Given the description of an element on the screen output the (x, y) to click on. 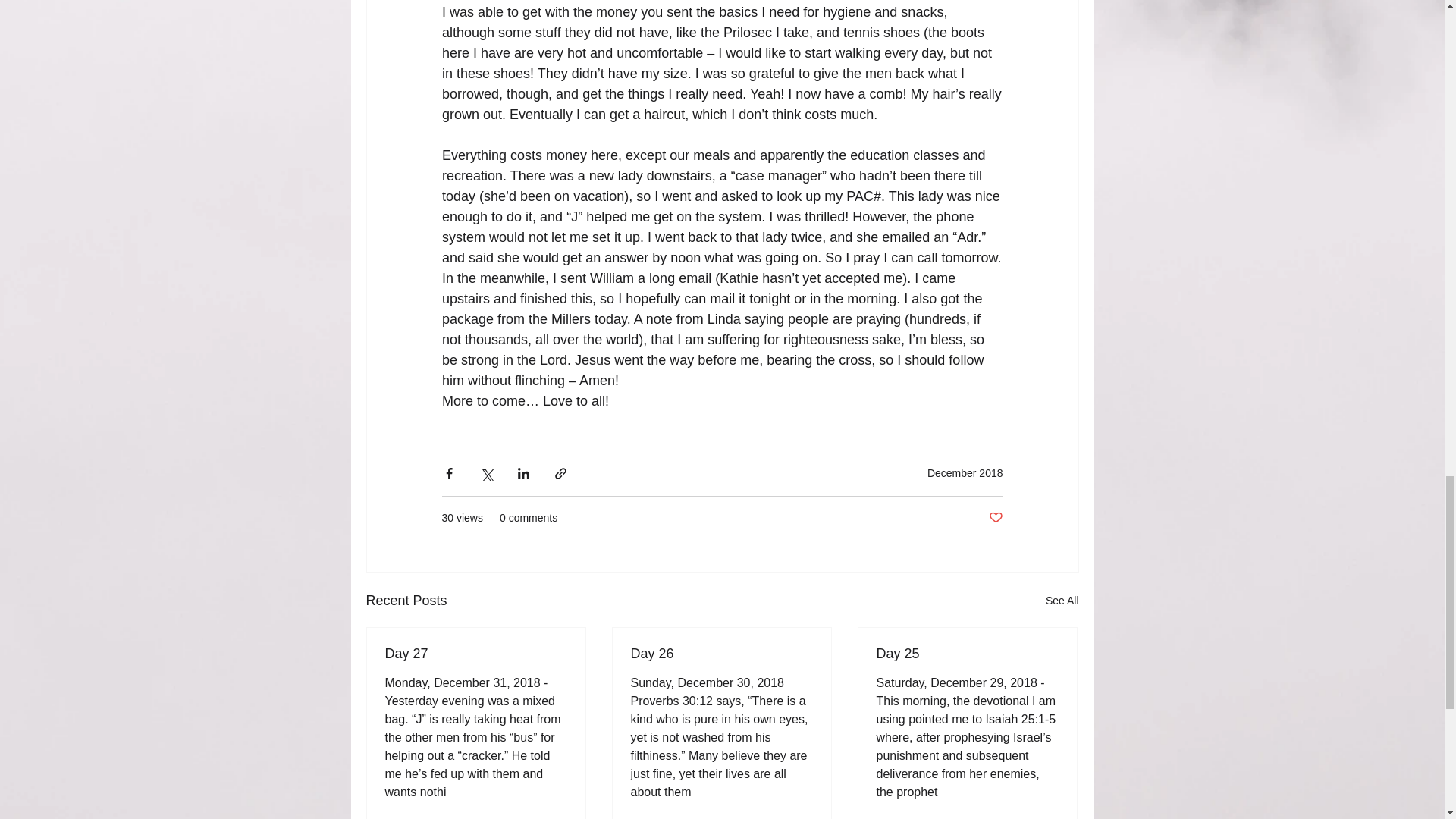
Day 27 (476, 653)
Day 26 (721, 653)
See All (1061, 600)
December 2018 (965, 472)
Post not marked as liked (995, 518)
